Given the description of an element on the screen output the (x, y) to click on. 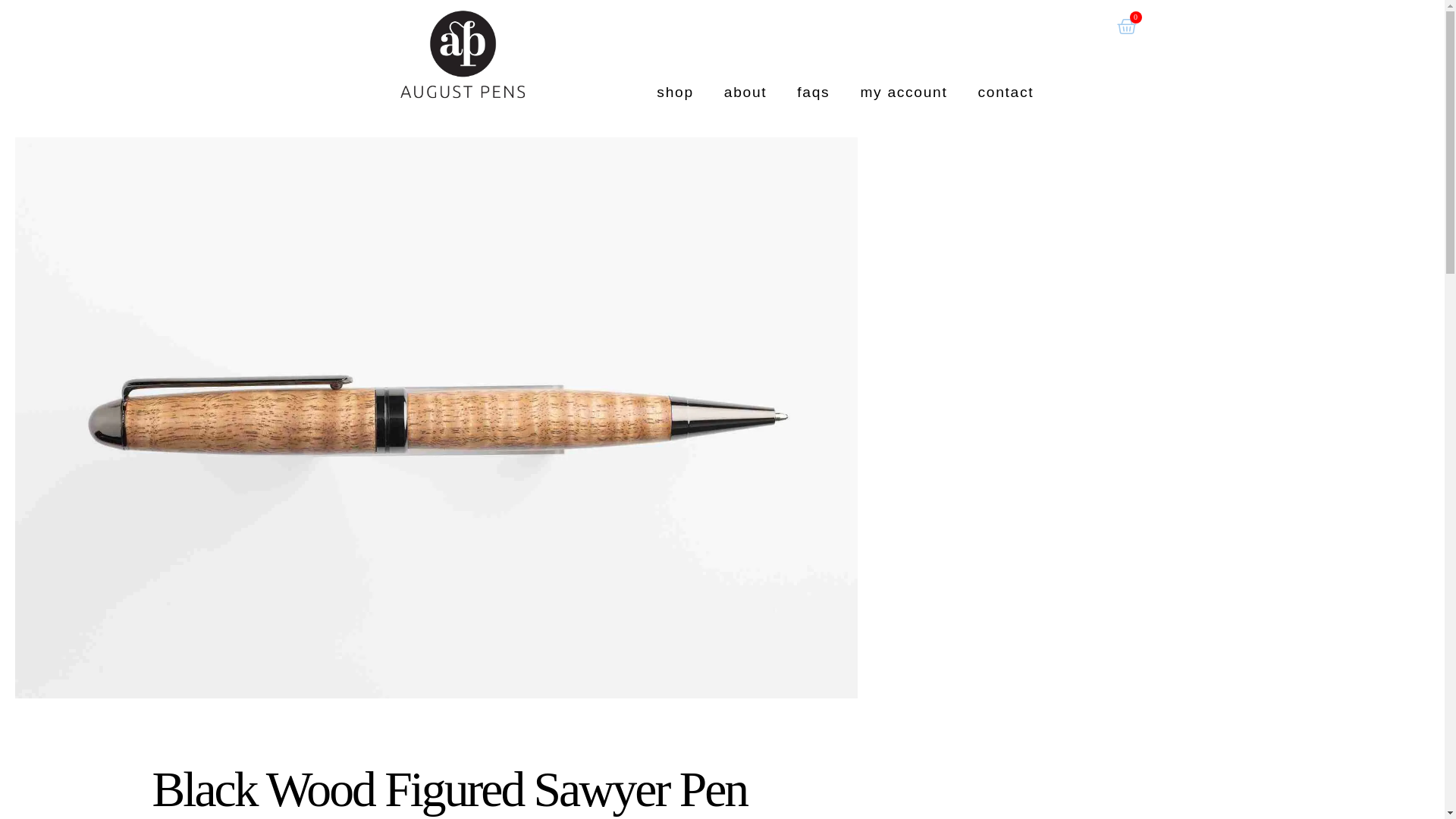
shop (674, 91)
my account (903, 91)
about (746, 91)
faqs (812, 91)
contact (1005, 91)
0 (1125, 28)
